Given the description of an element on the screen output the (x, y) to click on. 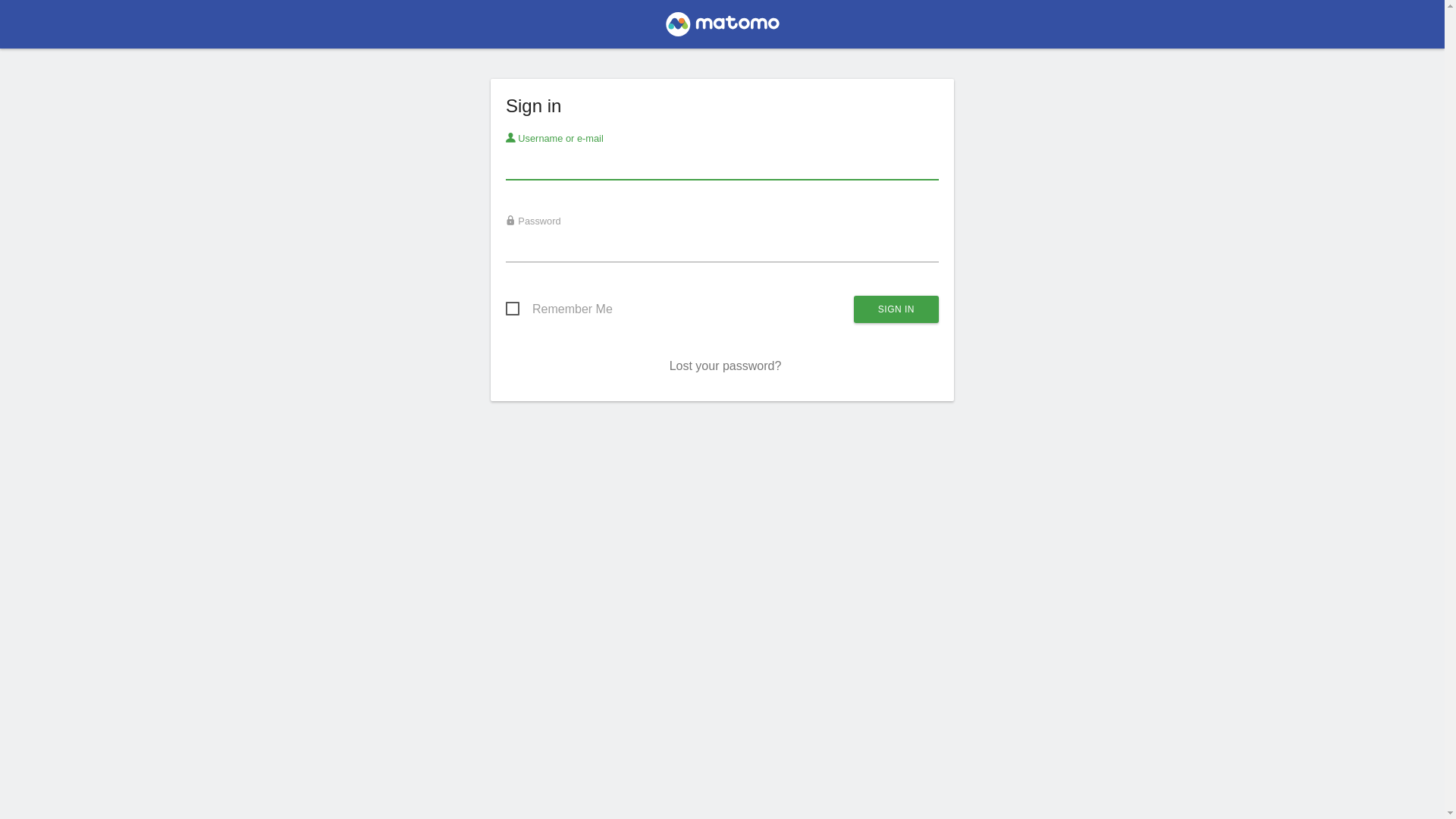
Lost your password? Element type: text (725, 365)
Matomo # free/libre analytics platform Element type: hover (722, 27)
Sign in Element type: text (895, 309)
